Given the description of an element on the screen output the (x, y) to click on. 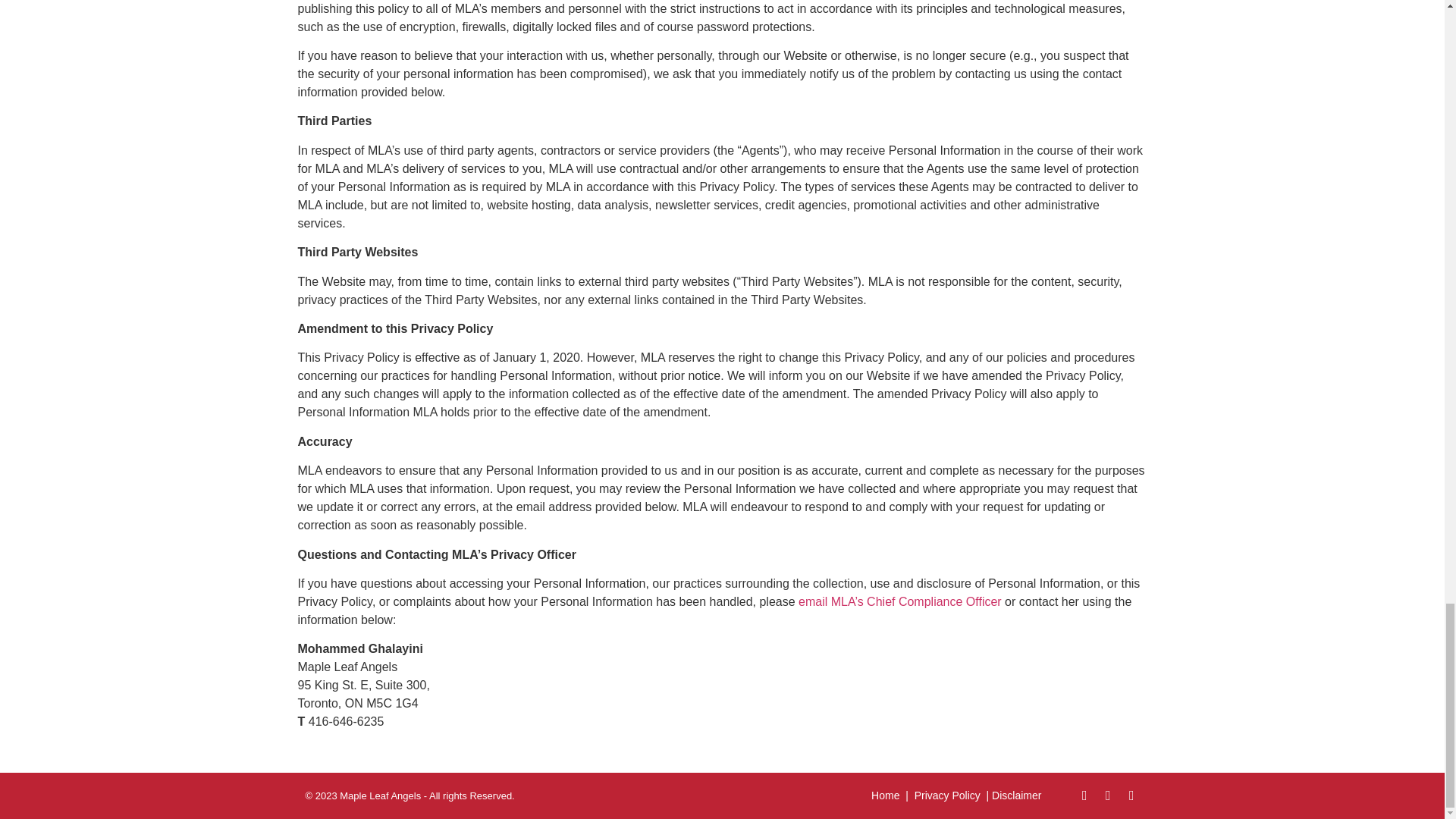
Privacy Policy (946, 795)
Disclaimer (1016, 795)
Home (884, 795)
